Given the description of an element on the screen output the (x, y) to click on. 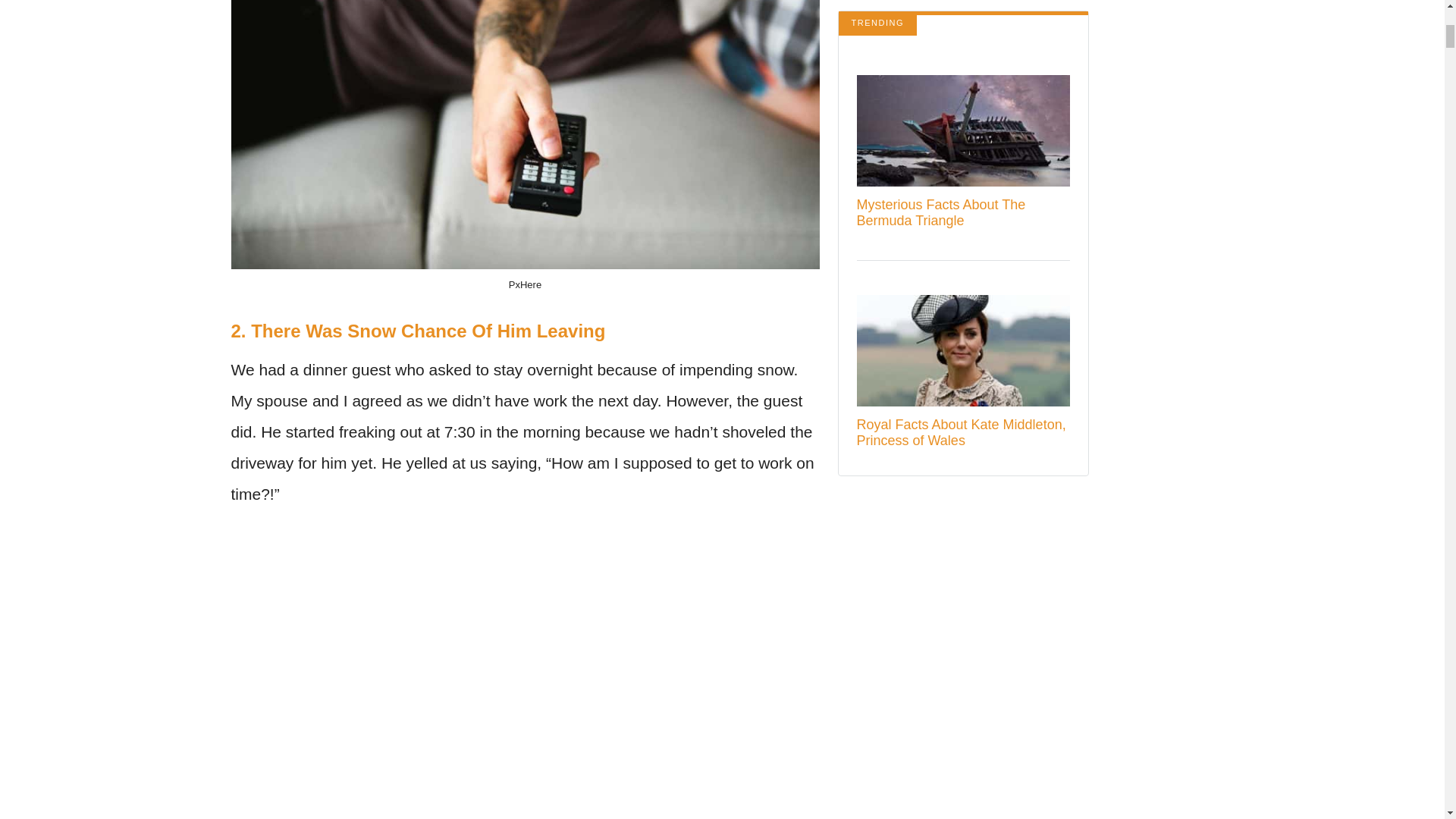
PxHere (524, 284)
